Given the description of an element on the screen output the (x, y) to click on. 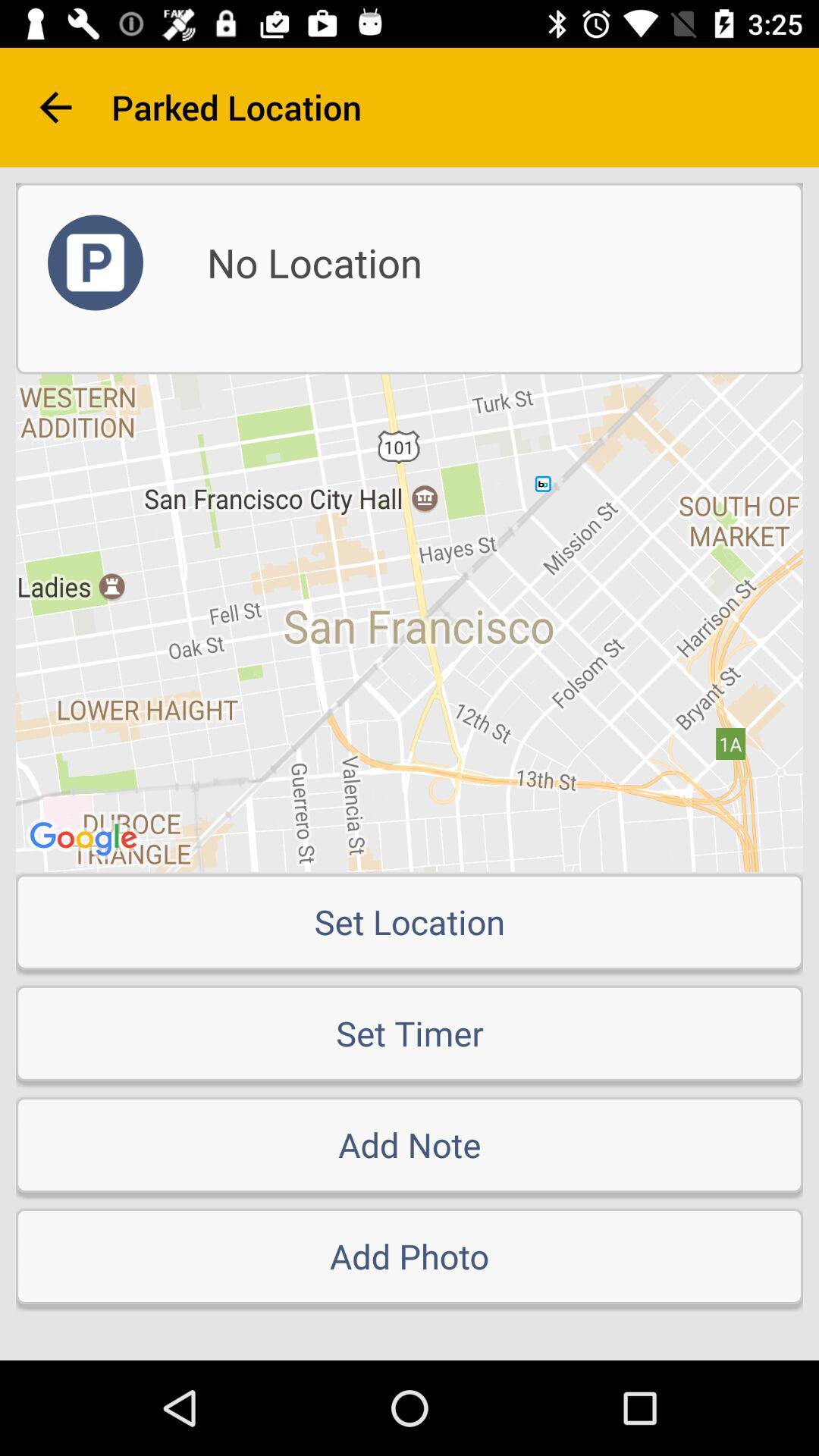
click the add photo item (409, 1256)
